Given the description of an element on the screen output the (x, y) to click on. 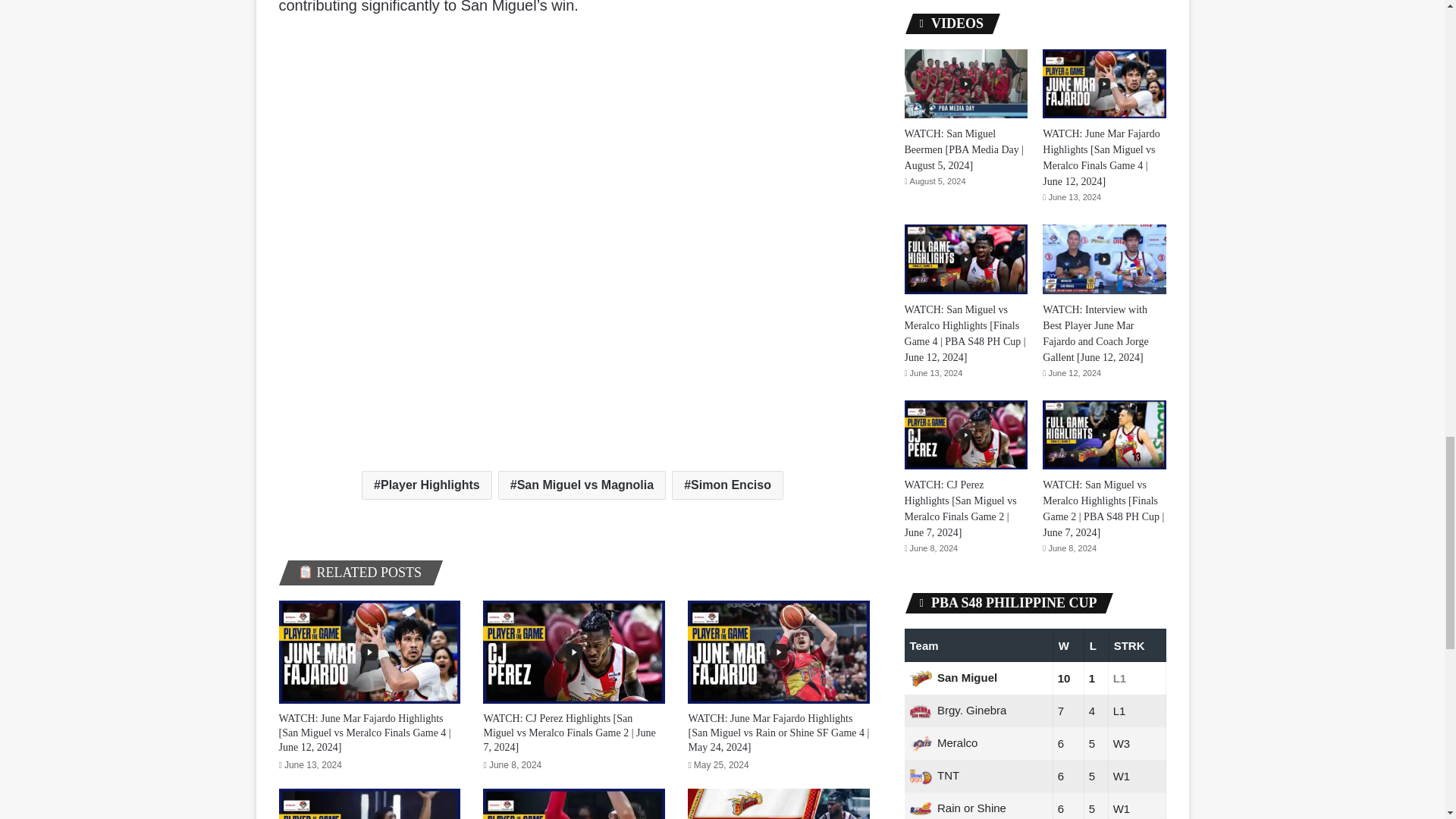
San Miguel vs Magnolia (581, 484)
Vuukle Sharebar Widget (574, 54)
Vuukle Emotes Widget (506, 135)
Simon Enciso (727, 484)
Player Highlights (426, 484)
